Given the description of an element on the screen output the (x, y) to click on. 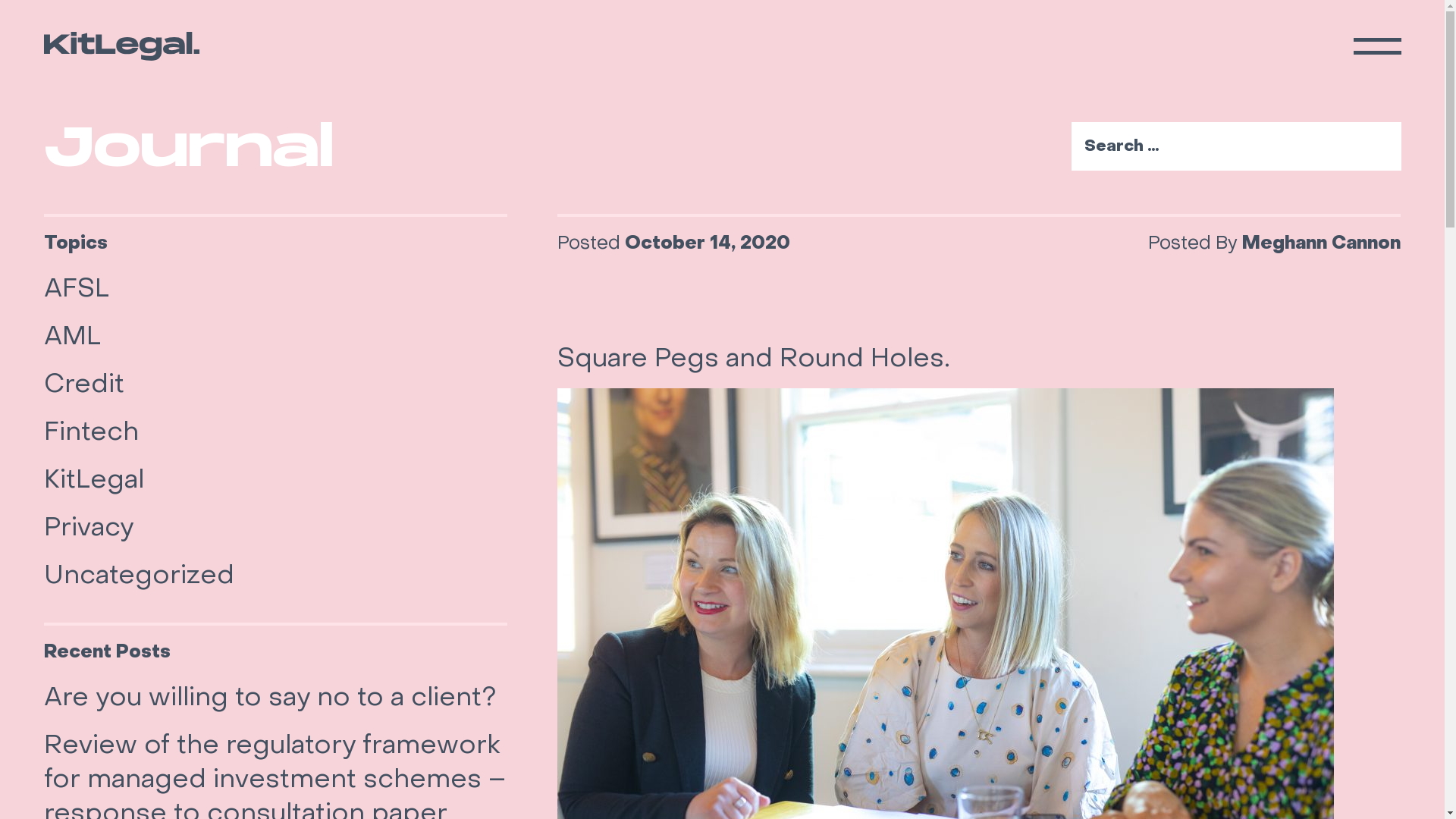
Search for: Element type: hover (1235, 146)
Uncategorized Element type: text (138, 574)
Credit Element type: text (83, 383)
AML Element type: text (71, 335)
Fintech Element type: text (90, 430)
Are you willing to say no to a client? Element type: text (269, 696)
AFSL Element type: text (76, 287)
Privacy Element type: text (88, 526)
Kit Legal Element type: text (121, 45)
KitLegal Element type: text (93, 478)
